Given the description of an element on the screen output the (x, y) to click on. 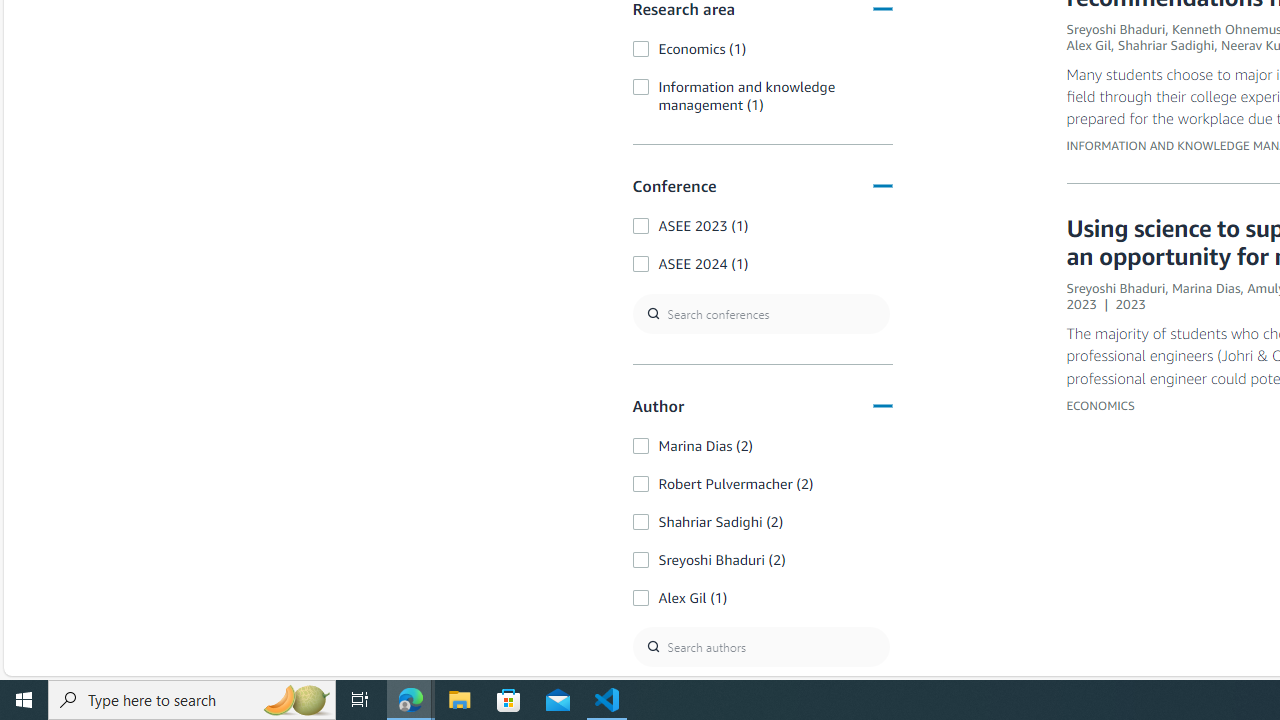
Shahriar Sadighi (1165, 45)
Search authors (760, 645)
Marina Dias (1206, 288)
